Given the description of an element on the screen output the (x, y) to click on. 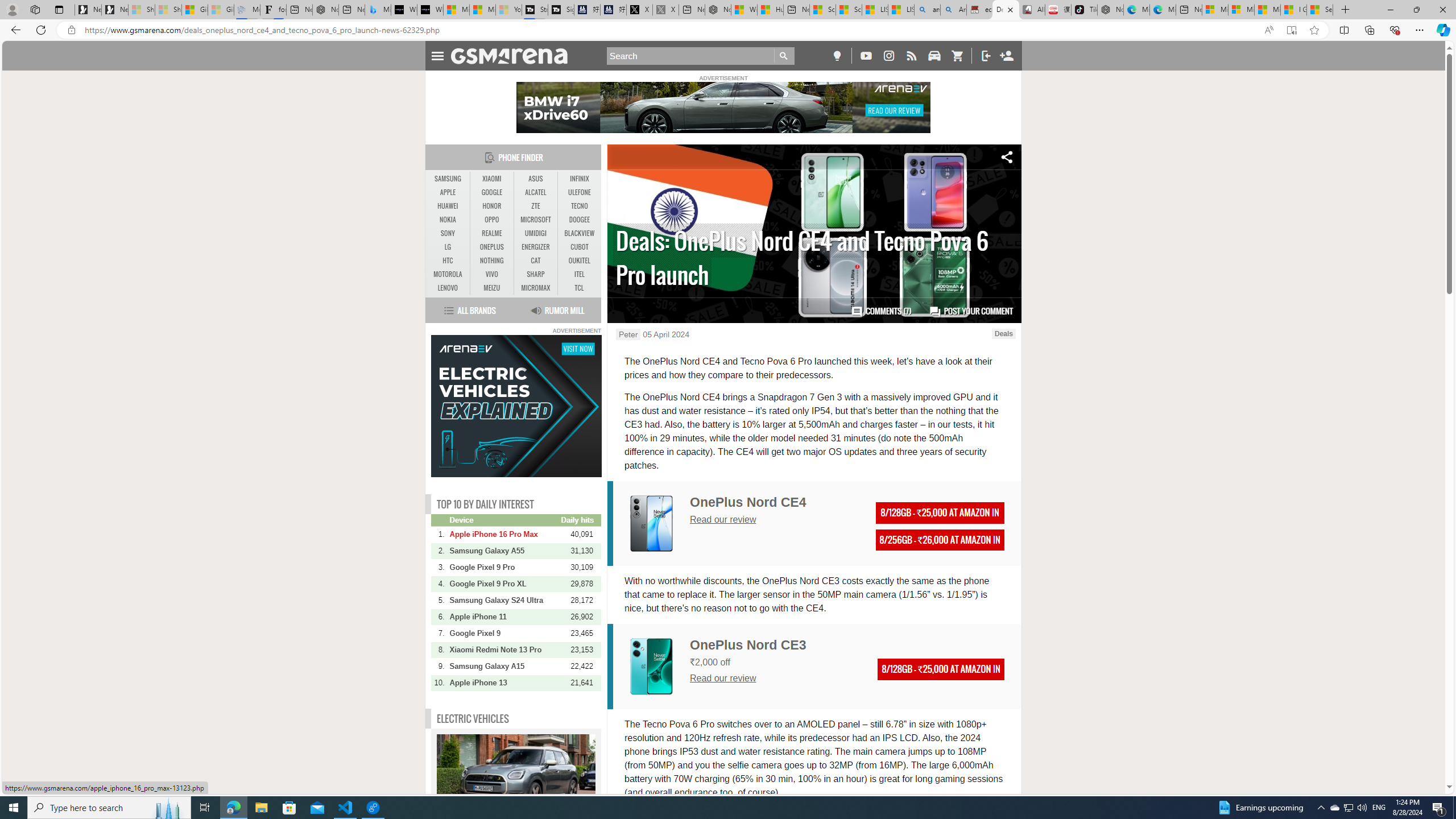
BLACKVIEW (579, 233)
Amazon Echo Dot PNG - Search Images (953, 9)
GOOGLE (491, 192)
Apple iPhone 11 (504, 616)
HONOR (491, 205)
REALME (491, 233)
Google Pixel 9 (504, 633)
ASUS (535, 178)
UMIDIGI (535, 233)
OnePlus Nord CE4 (651, 523)
